Given the description of an element on the screen output the (x, y) to click on. 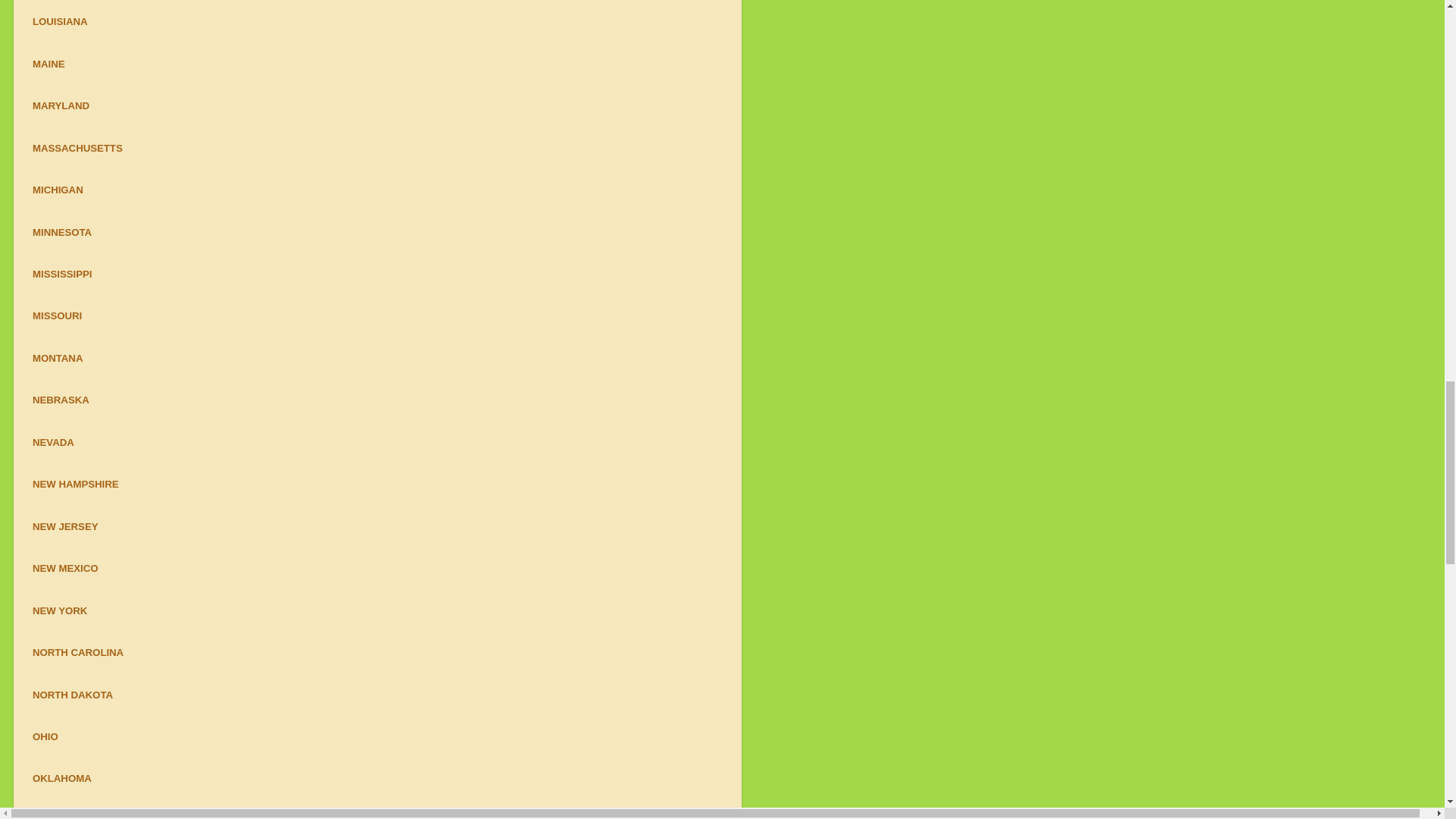
NEW MEXICO (64, 568)
NORTH CAROLINA (77, 652)
MAINE (48, 63)
NEVADA (53, 441)
MASSACHUSETTS (77, 147)
NEBRASKA (60, 399)
MISSISSIPPI (61, 274)
LOUISIANA (59, 21)
NEW HAMPSHIRE (75, 483)
MINNESOTA (61, 232)
MONTANA (57, 357)
MISSOURI (56, 315)
NEW YORK (59, 610)
OHIO (45, 736)
MICHIGAN (57, 189)
